Given the description of an element on the screen output the (x, y) to click on. 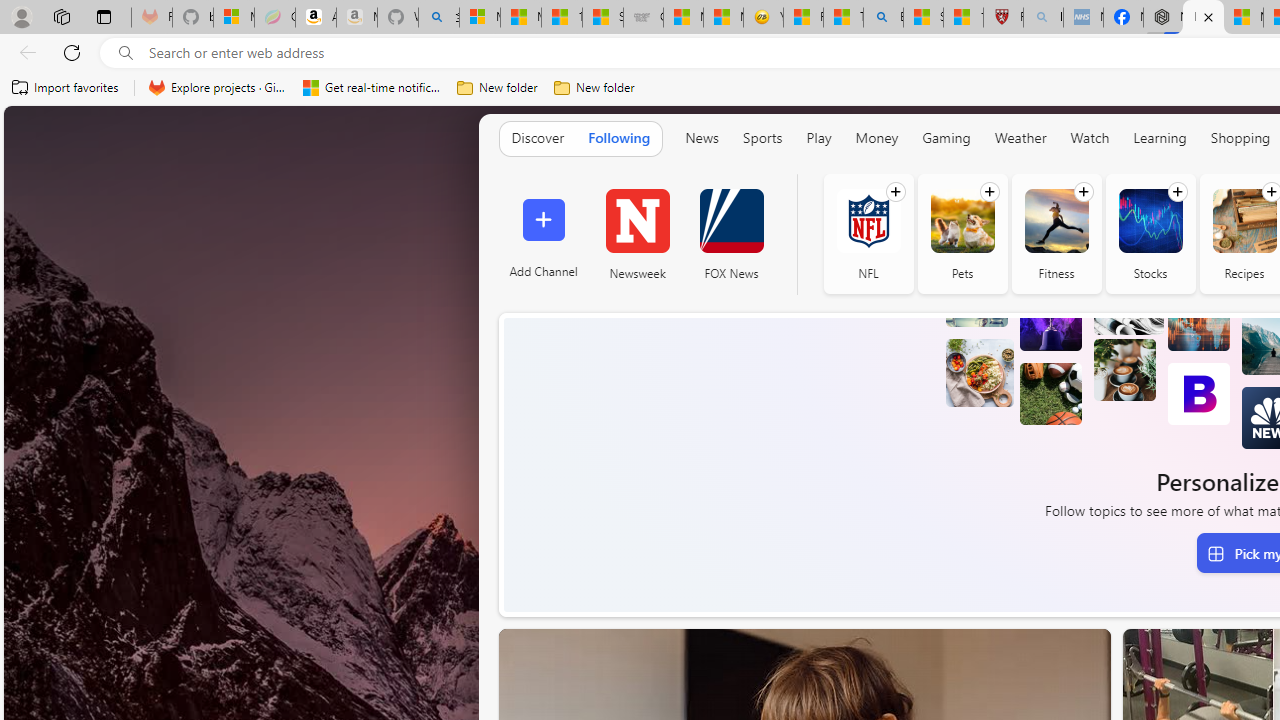
Import favorites (65, 88)
Pets (962, 220)
Recipes (1244, 220)
Shopping (1240, 137)
New folder (594, 88)
Stocks (1149, 233)
